Given the description of an element on the screen output the (x, y) to click on. 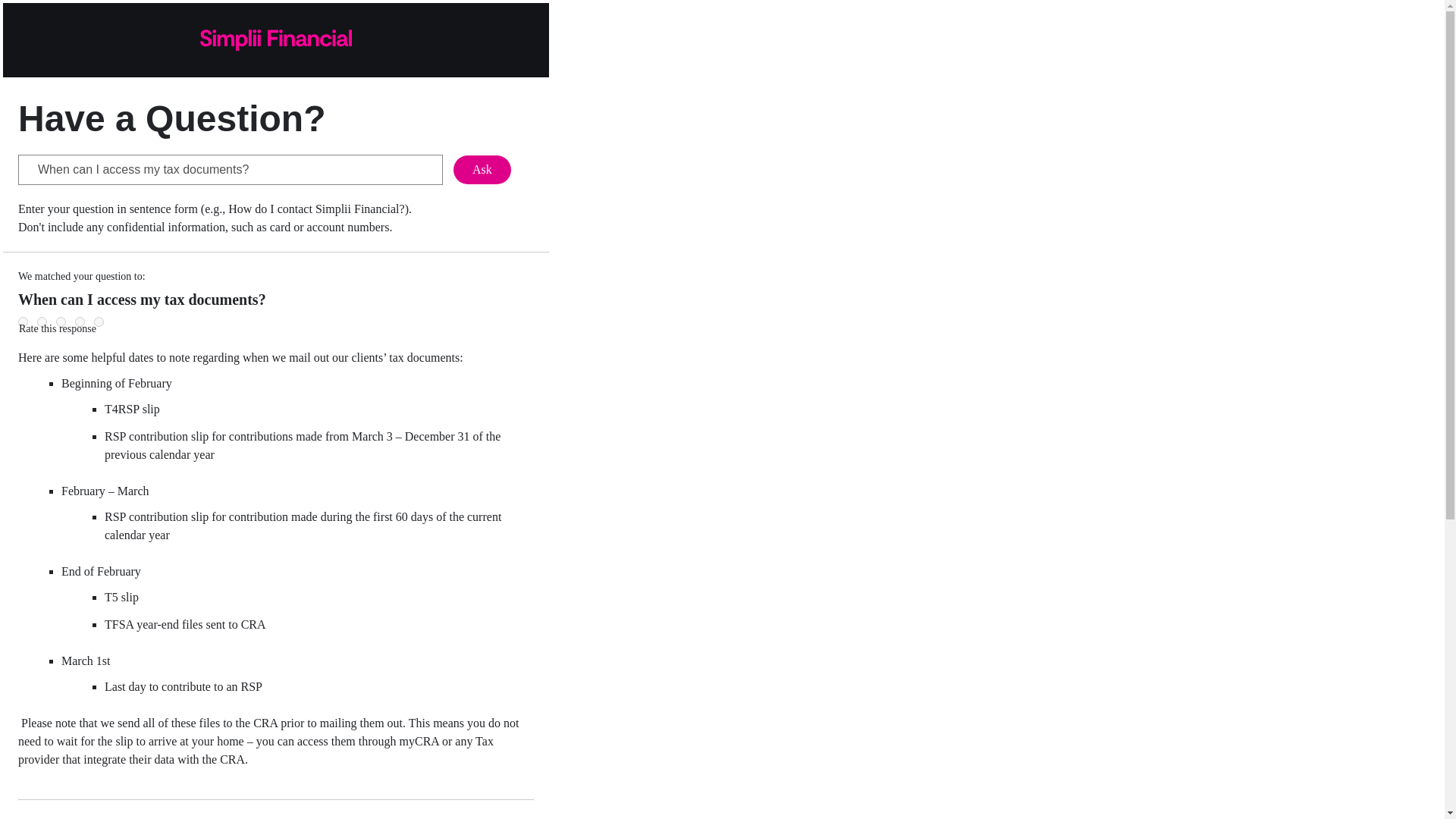
When can I access my tax documents? (229, 169)
50 (60, 321)
100 (98, 321)
0 (22, 321)
Ask (481, 169)
75 (79, 321)
25 (41, 321)
Ask (481, 169)
